Given the description of an element on the screen output the (x, y) to click on. 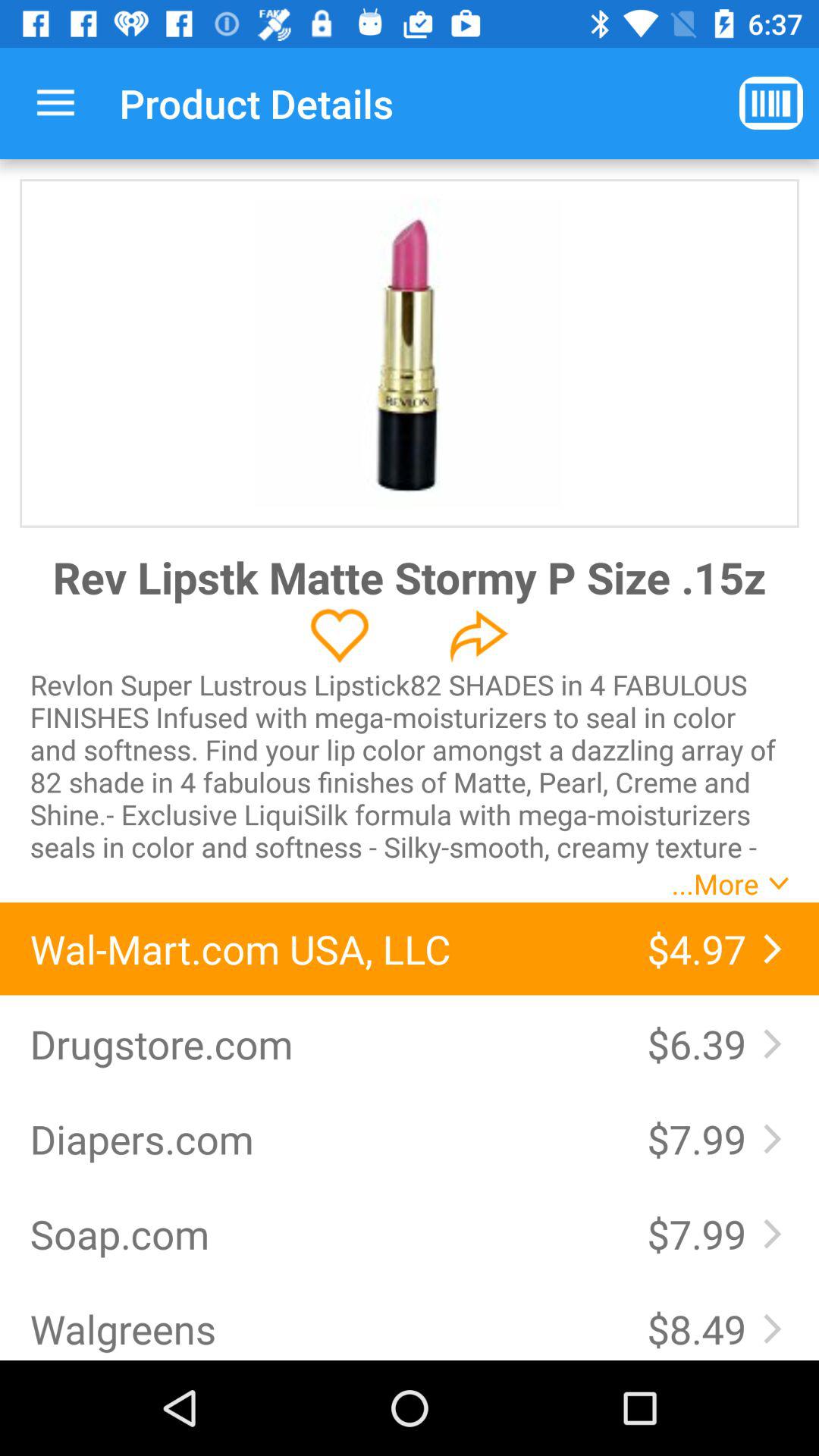
like this product (339, 636)
